Given the description of an element on the screen output the (x, y) to click on. 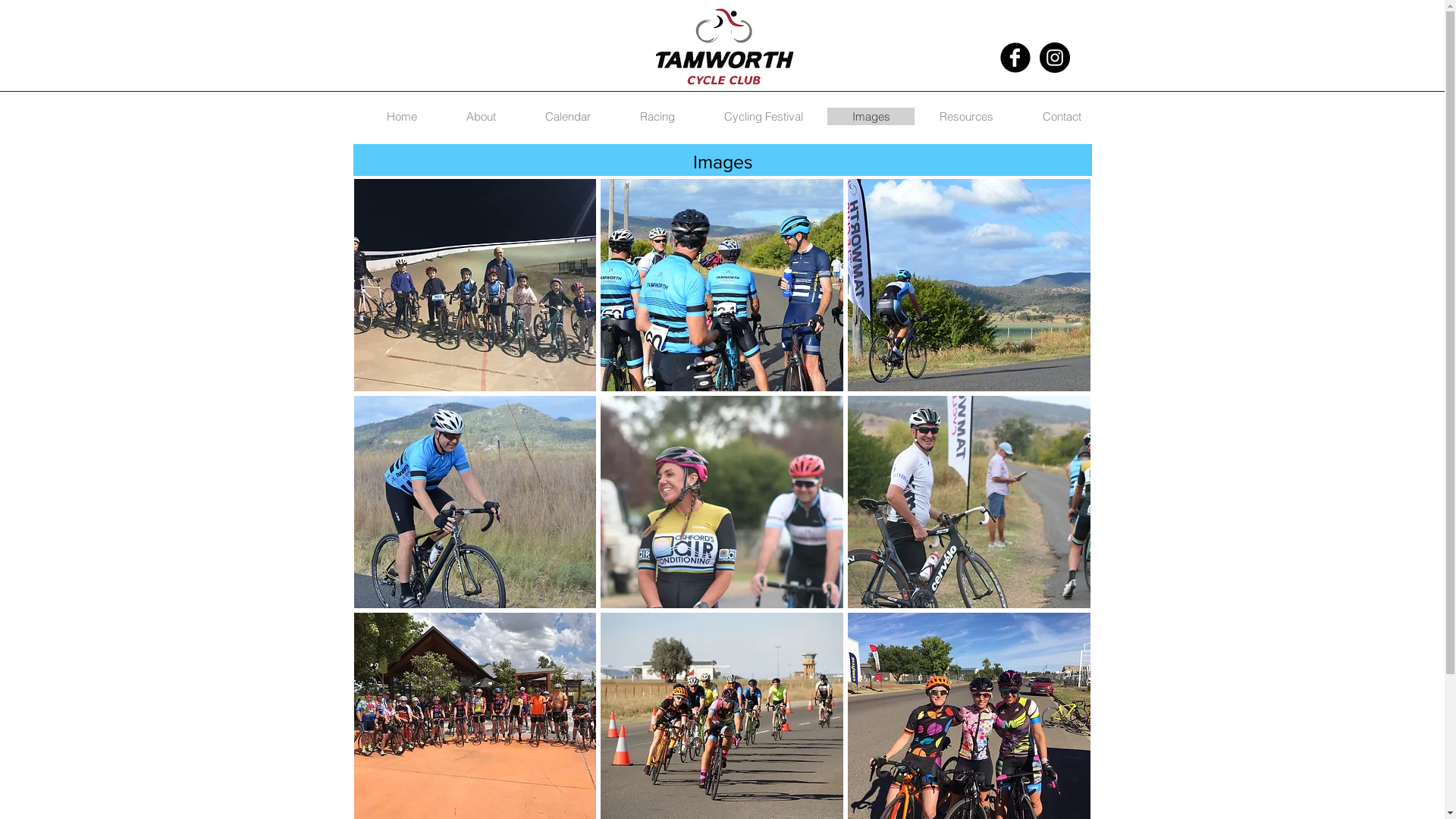
Cycling Festival Element type: text (763, 116)
Resources Element type: text (965, 116)
Calendar Element type: text (567, 116)
Racing Element type: text (656, 116)
About Element type: text (480, 116)
Home Element type: text (401, 116)
Contact Element type: text (1061, 116)
Images Element type: text (869, 116)
